Given the description of an element on the screen output the (x, y) to click on. 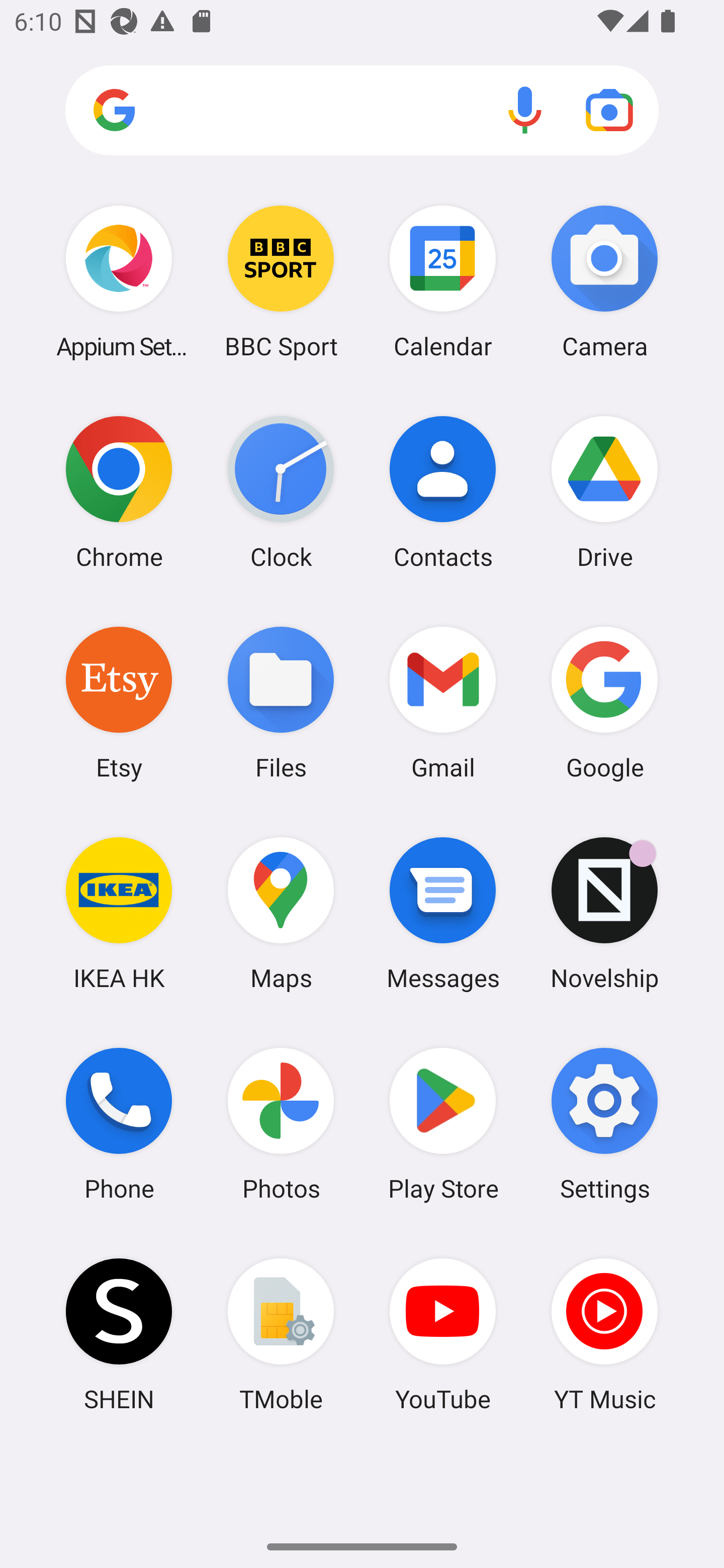
Search apps, web and more (361, 110)
Voice search (524, 109)
Google Lens (608, 109)
Appium Settings (118, 281)
BBC Sport (280, 281)
Calendar (443, 281)
Camera (604, 281)
Chrome (118, 492)
Clock (280, 492)
Contacts (443, 492)
Drive (604, 492)
Etsy (118, 702)
Files (280, 702)
Gmail (443, 702)
Google (604, 702)
IKEA HK (118, 913)
Maps (280, 913)
Messages (443, 913)
Novelship Novelship has 1 notification (604, 913)
Phone (118, 1124)
Photos (280, 1124)
Play Store (443, 1124)
Settings (604, 1124)
SHEIN (118, 1334)
TMoble (280, 1334)
YouTube (443, 1334)
YT Music (604, 1334)
